Given the description of an element on the screen output the (x, y) to click on. 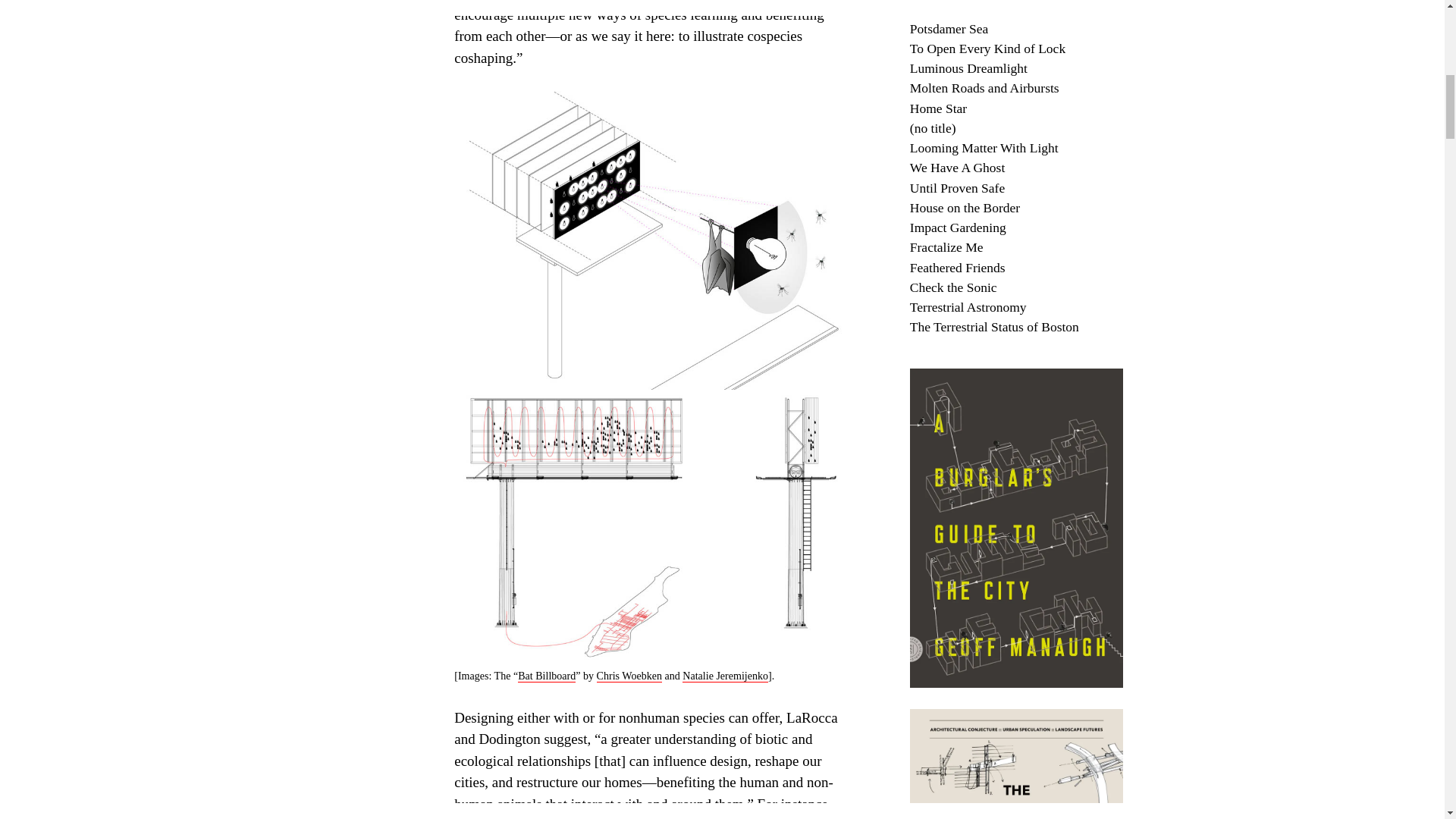
Bat Billboard (546, 675)
Chris Woebken (629, 675)
Natalie Jeremijenko (725, 675)
